Given the description of an element on the screen output the (x, y) to click on. 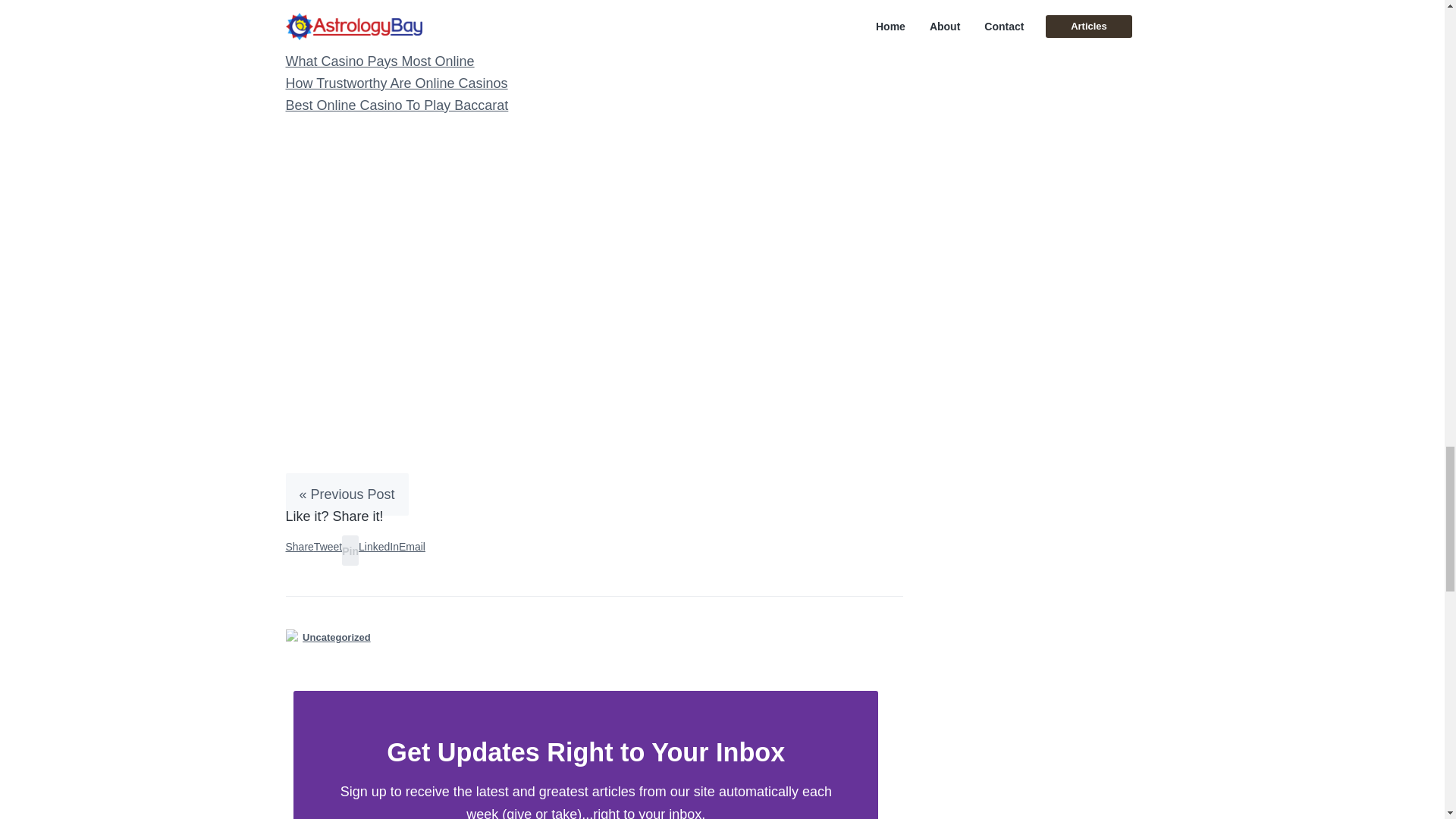
Share on Twitter (328, 546)
How Trustworthy Are Online Casinos (395, 83)
LinkedIn (378, 546)
Share (299, 546)
What Casino Pays Most Online (379, 61)
Winning Tips For Online Casinos (384, 38)
Best Online Casino To Play Baccarat (396, 105)
How Trustworthy Are Online Casinos (395, 83)
Share on LinkedIn (378, 546)
De Gebruikte Online Casino Software (398, 17)
What Casino Pays Most Online (379, 61)
Email (411, 546)
Share on Facebook (299, 546)
Tweet (328, 546)
no Casino Etiquette Is Required (381, 1)
